Given the description of an element on the screen output the (x, y) to click on. 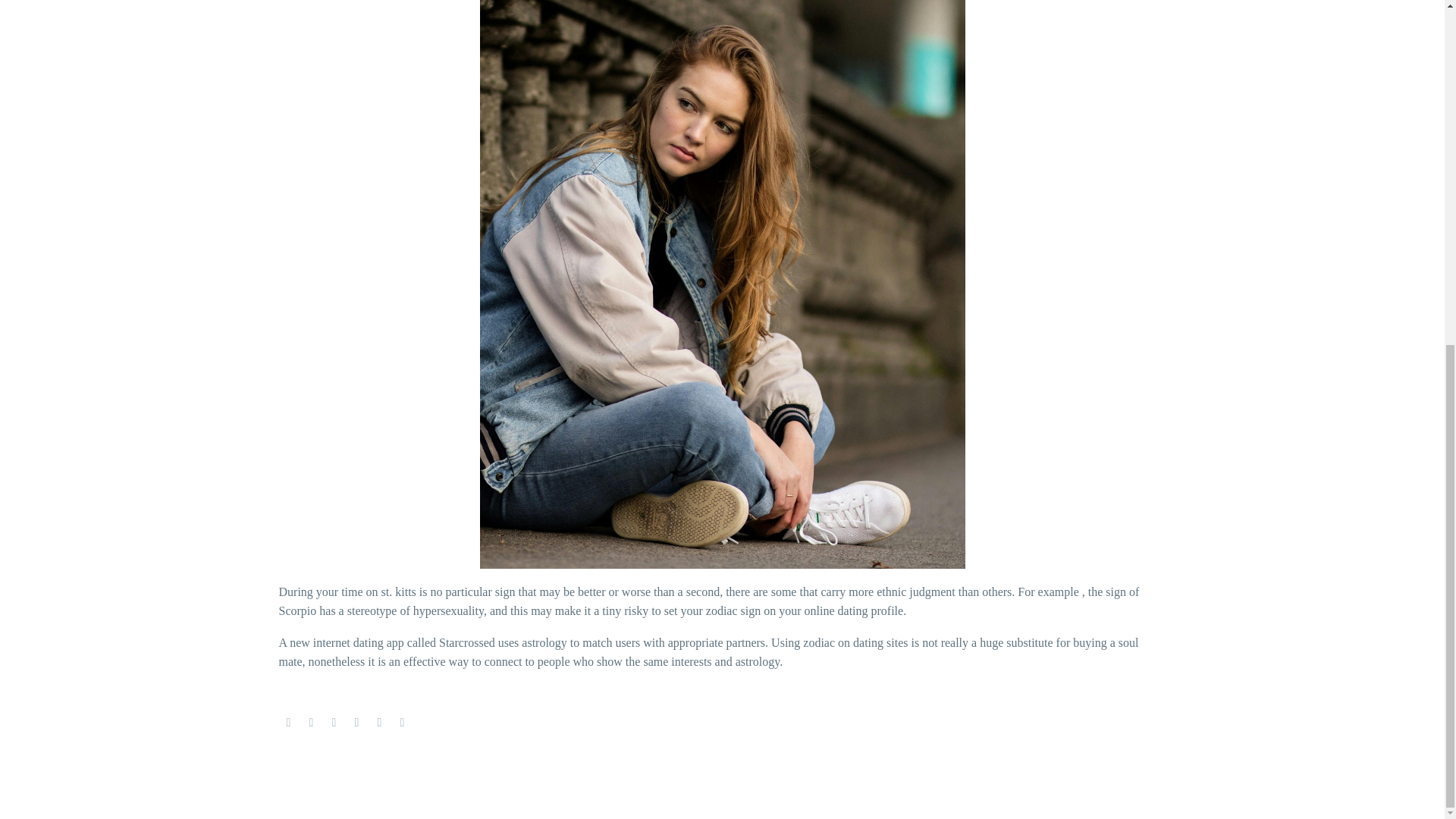
Twitter (310, 722)
LinkedIn (378, 722)
Pinterest (333, 722)
Facebook (288, 722)
Reddit (401, 722)
Tumblr (356, 722)
